Given the description of an element on the screen output the (x, y) to click on. 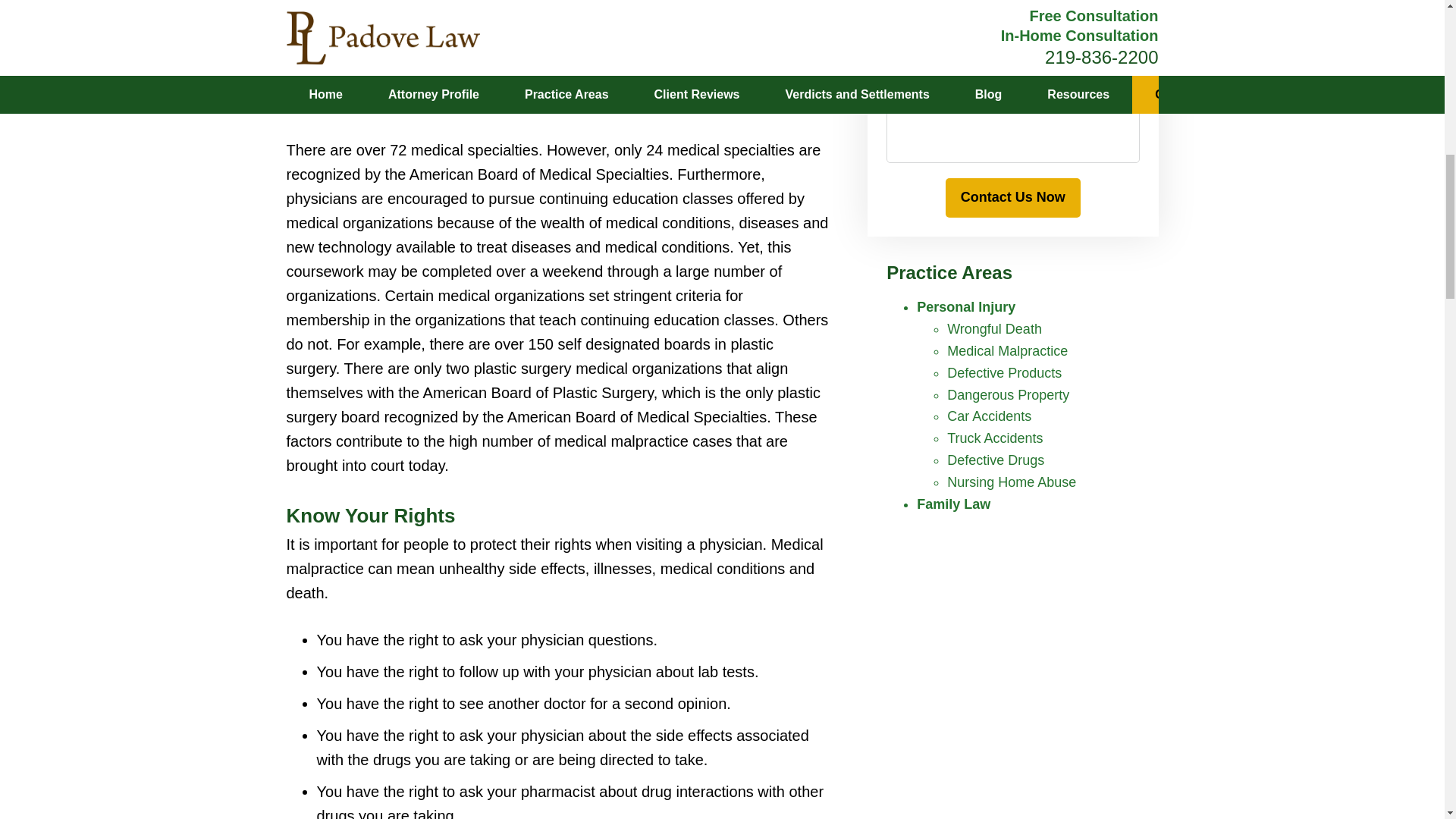
Defective Drugs (995, 459)
Personal Injury (965, 306)
Contact Us Now (1012, 197)
Wrongful Death (994, 328)
Medical Malpractice (1007, 350)
Family Law (953, 503)
Car Accidents (988, 416)
Nursing Home Abuse (1011, 482)
Defective Products (1004, 372)
Dangerous Property (1007, 394)
